Given the description of an element on the screen output the (x, y) to click on. 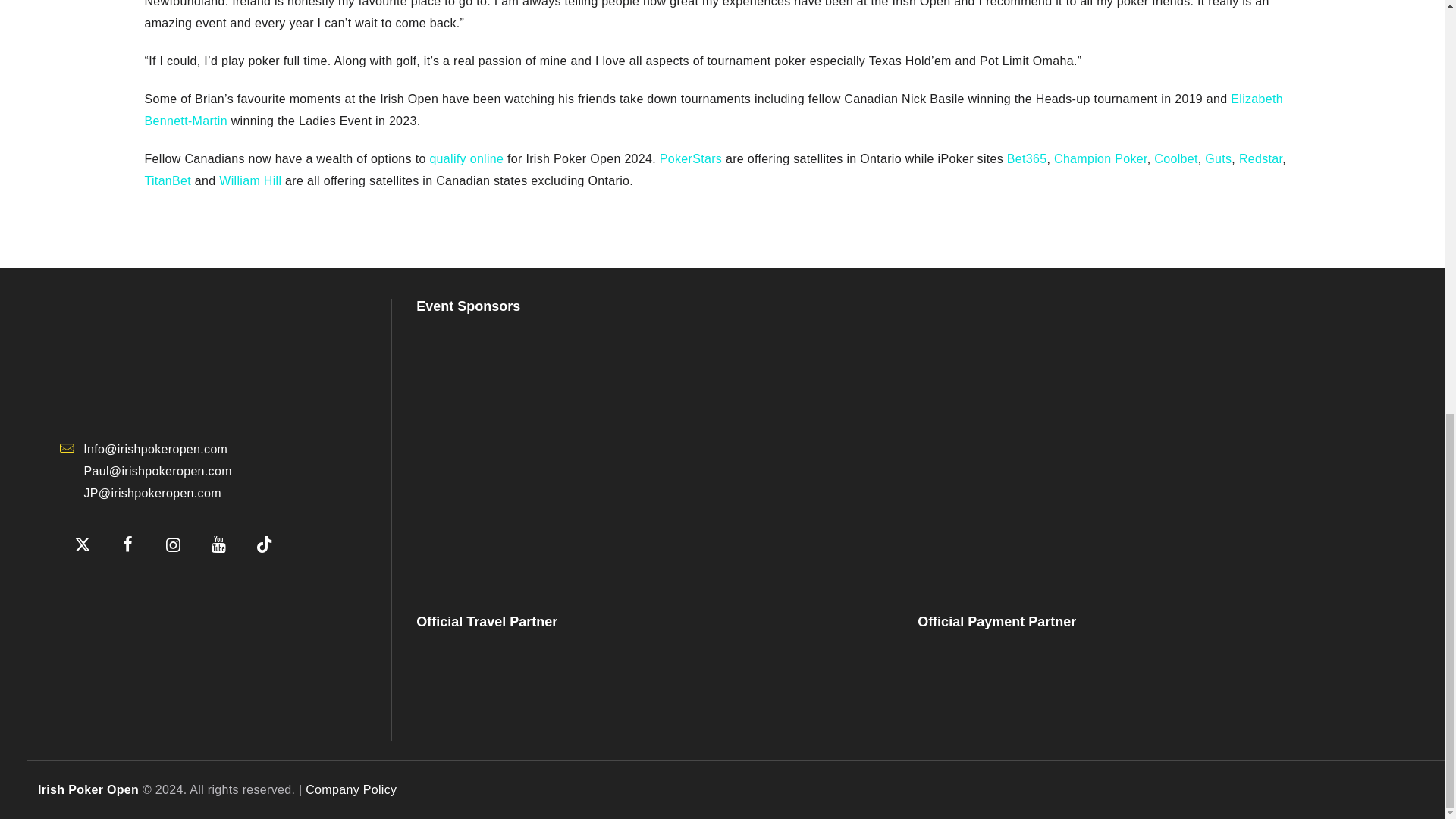
cropped-Irish-Open-Logo.jpg (172, 359)
PSLogoTransparent (652, 452)
TRAVEL WHITE (526, 685)
Screen Shot 2023-01-12 at 09.14.15 (135, 589)
